Given the description of an element on the screen output the (x, y) to click on. 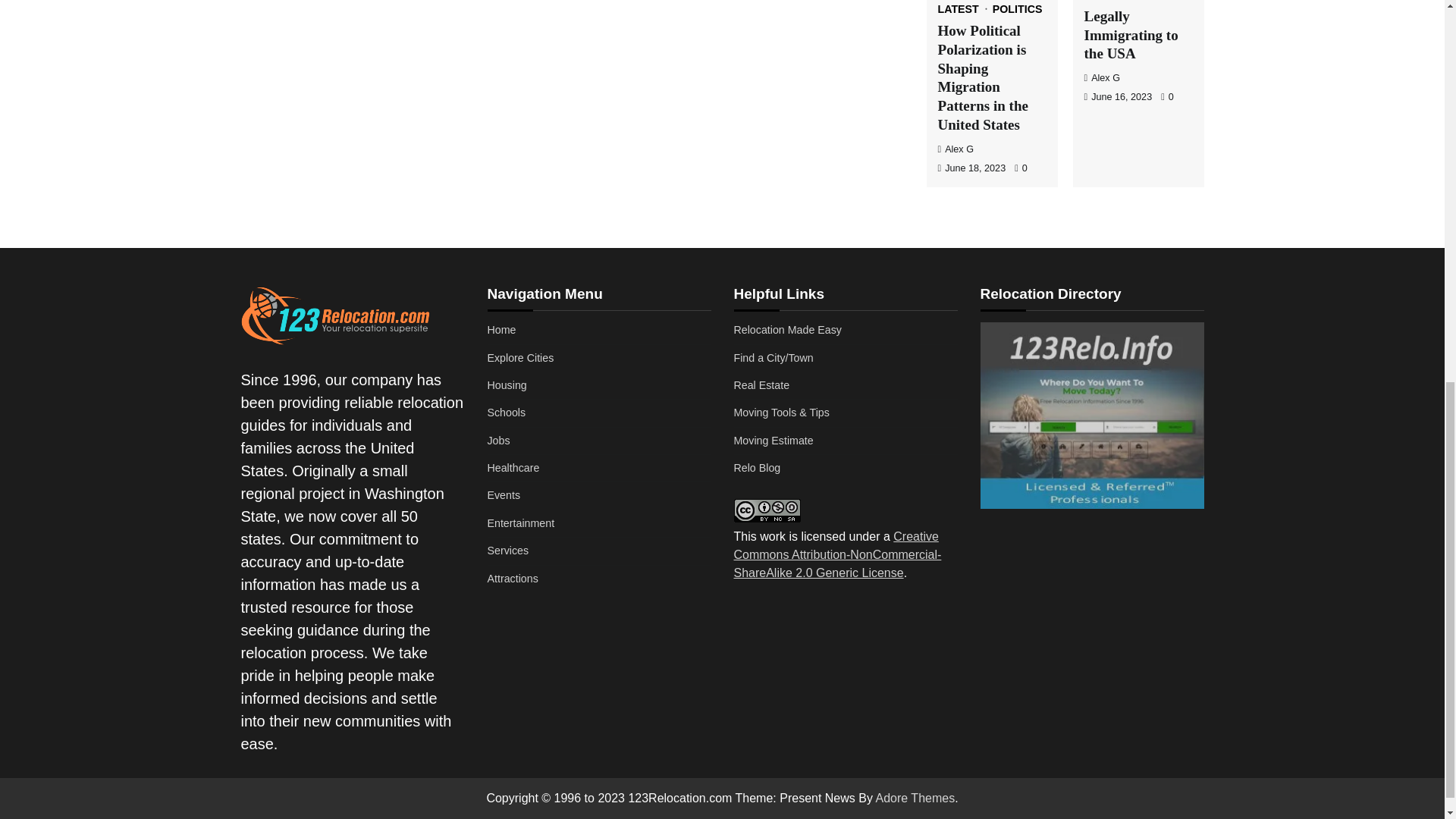
LATEST (962, 9)
Alex G (955, 149)
POLITICS (1017, 9)
